Given the description of an element on the screen output the (x, y) to click on. 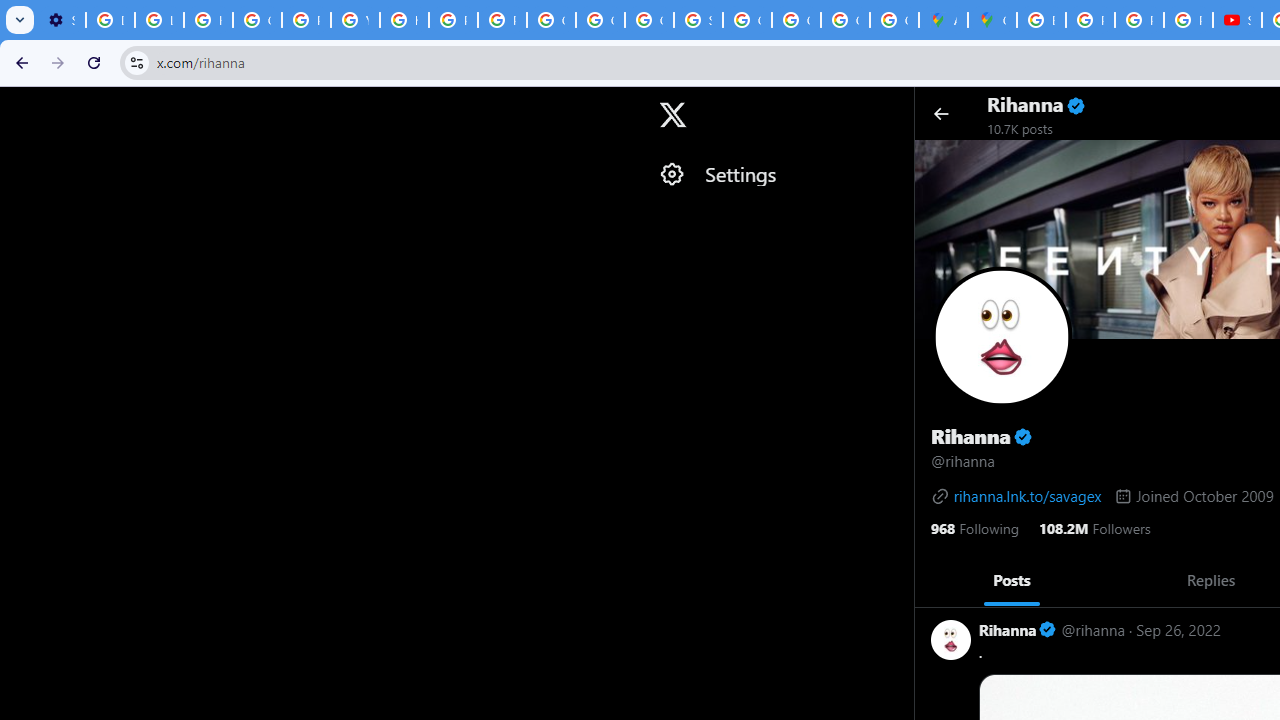
@rihanna (1093, 629)
Subscriptions - YouTube (1237, 20)
Privacy Help Center - Policies Help (1090, 20)
X (672, 115)
Google Maps (992, 20)
Sign in - Google Accounts (698, 20)
Skip to trending (17, 105)
